Given the description of an element on the screen output the (x, y) to click on. 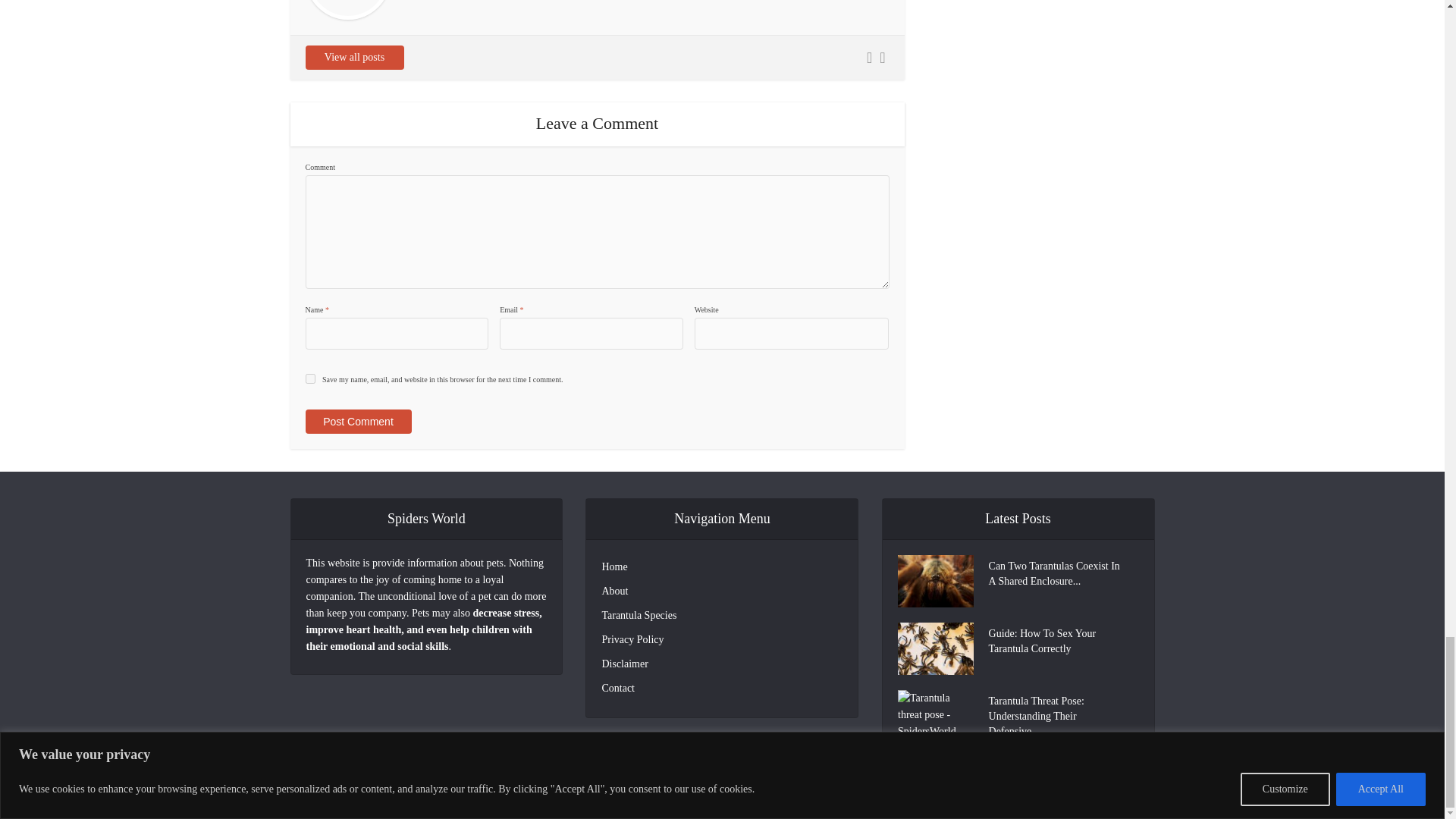
yes (309, 378)
Post Comment (357, 421)
